Given the description of an element on the screen output the (x, y) to click on. 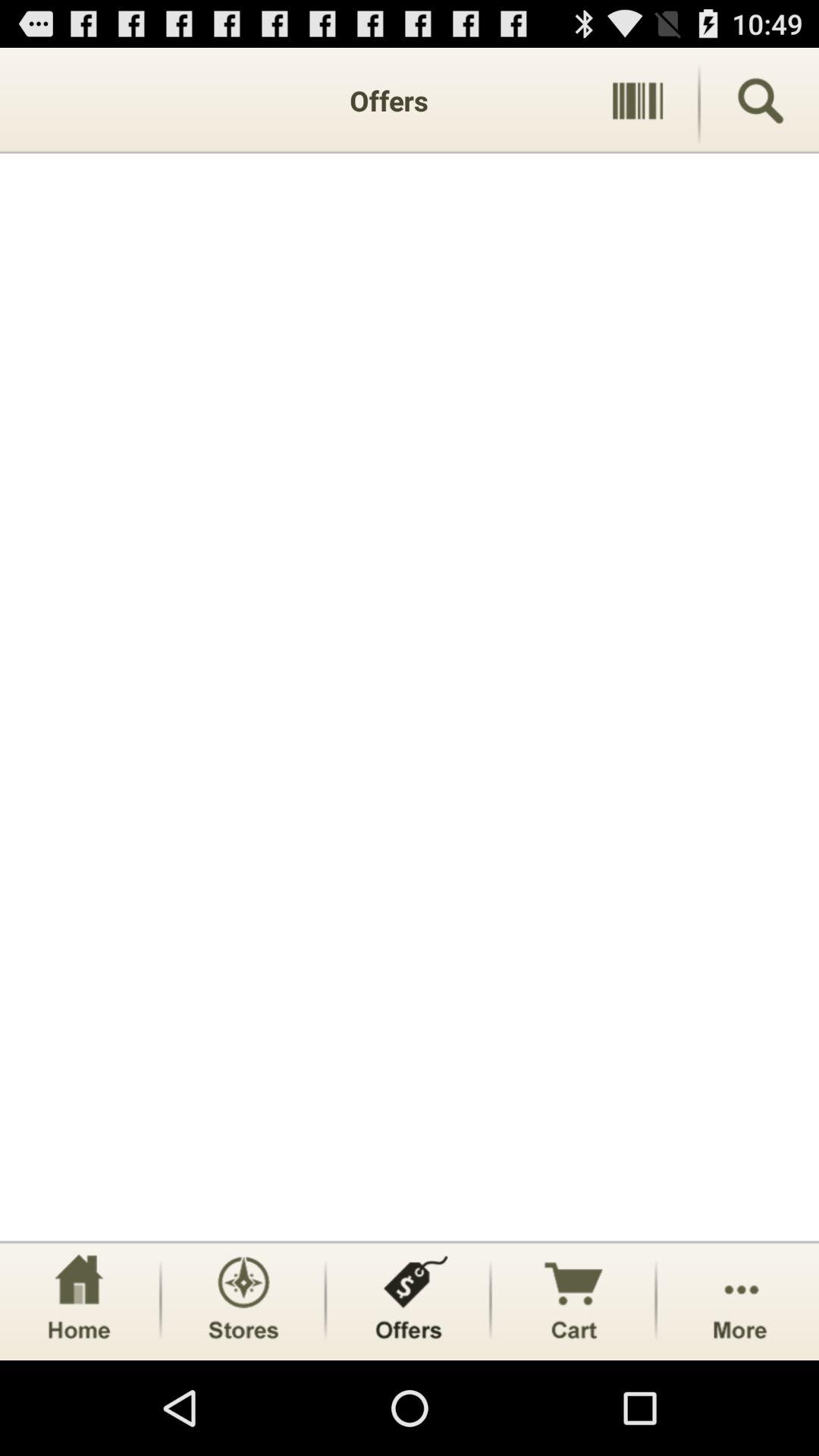
open item at the center (409, 697)
